Given the description of an element on the screen output the (x, y) to click on. 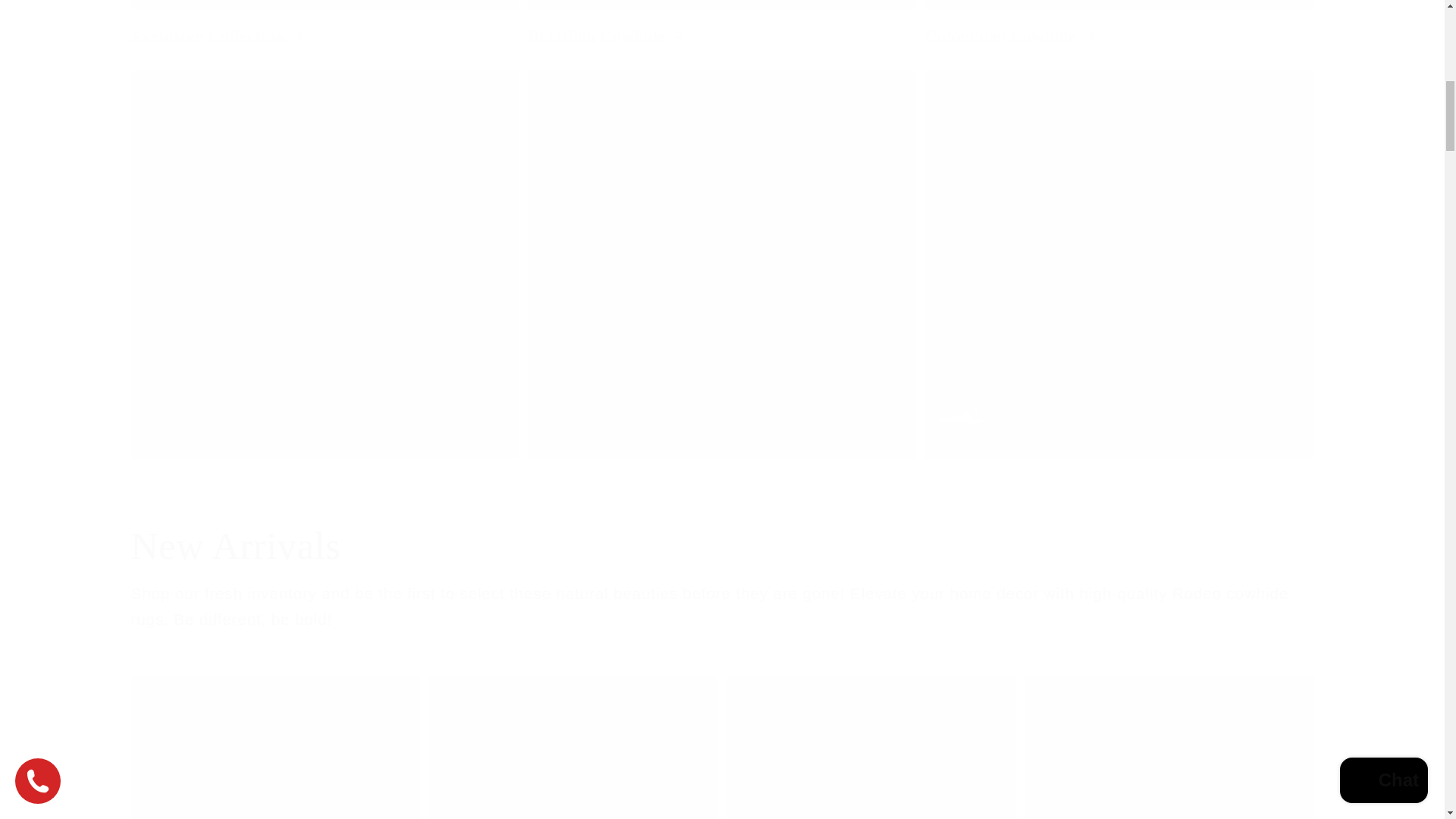
Colombian Cowhide (1118, 32)
New Arrivals (722, 545)
Brazilian Cowhide (721, 32)
Exclusive Collection (324, 32)
